Given the description of an element on the screen output the (x, y) to click on. 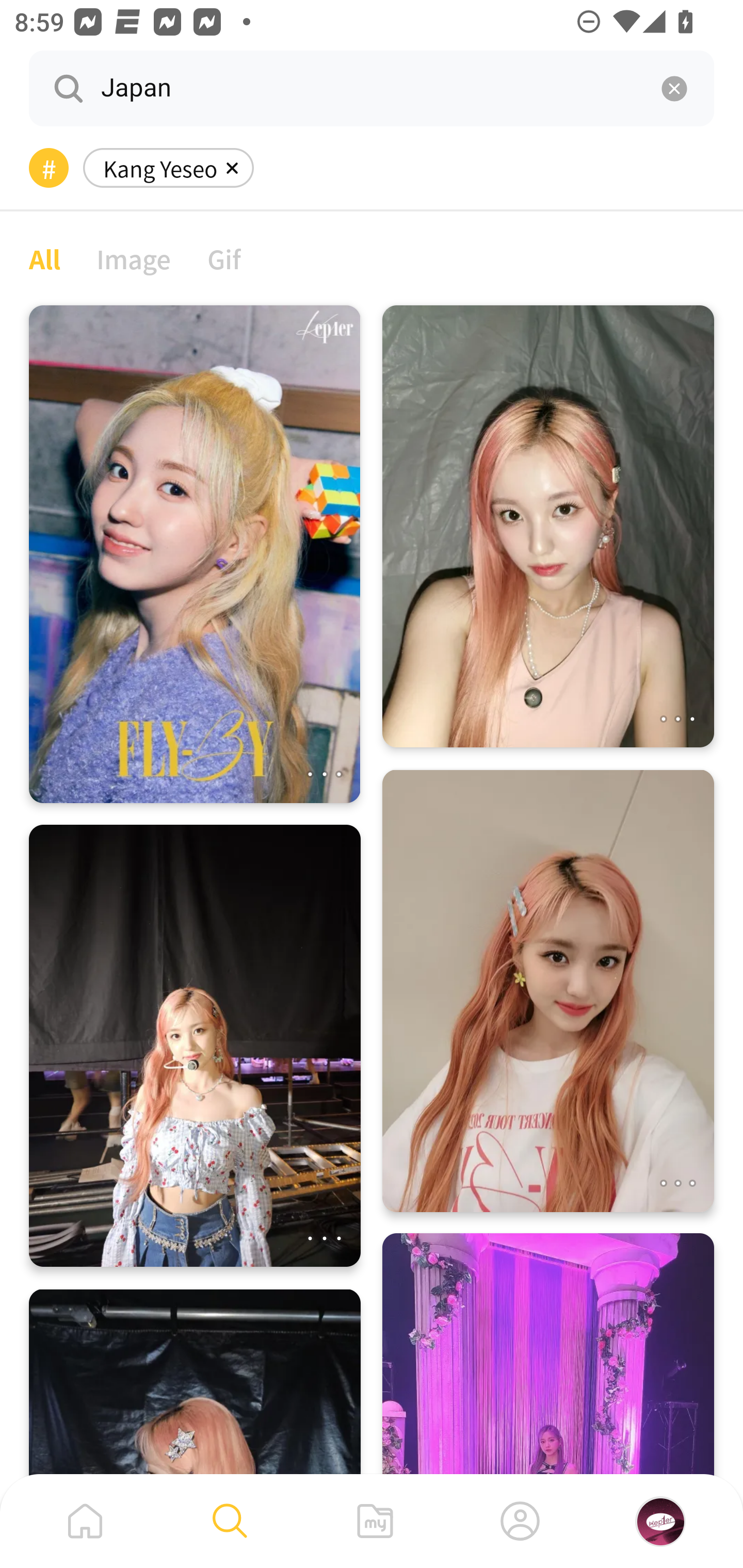
All (44, 257)
Image (133, 257)
Gif (223, 257)
